Given the description of an element on the screen output the (x, y) to click on. 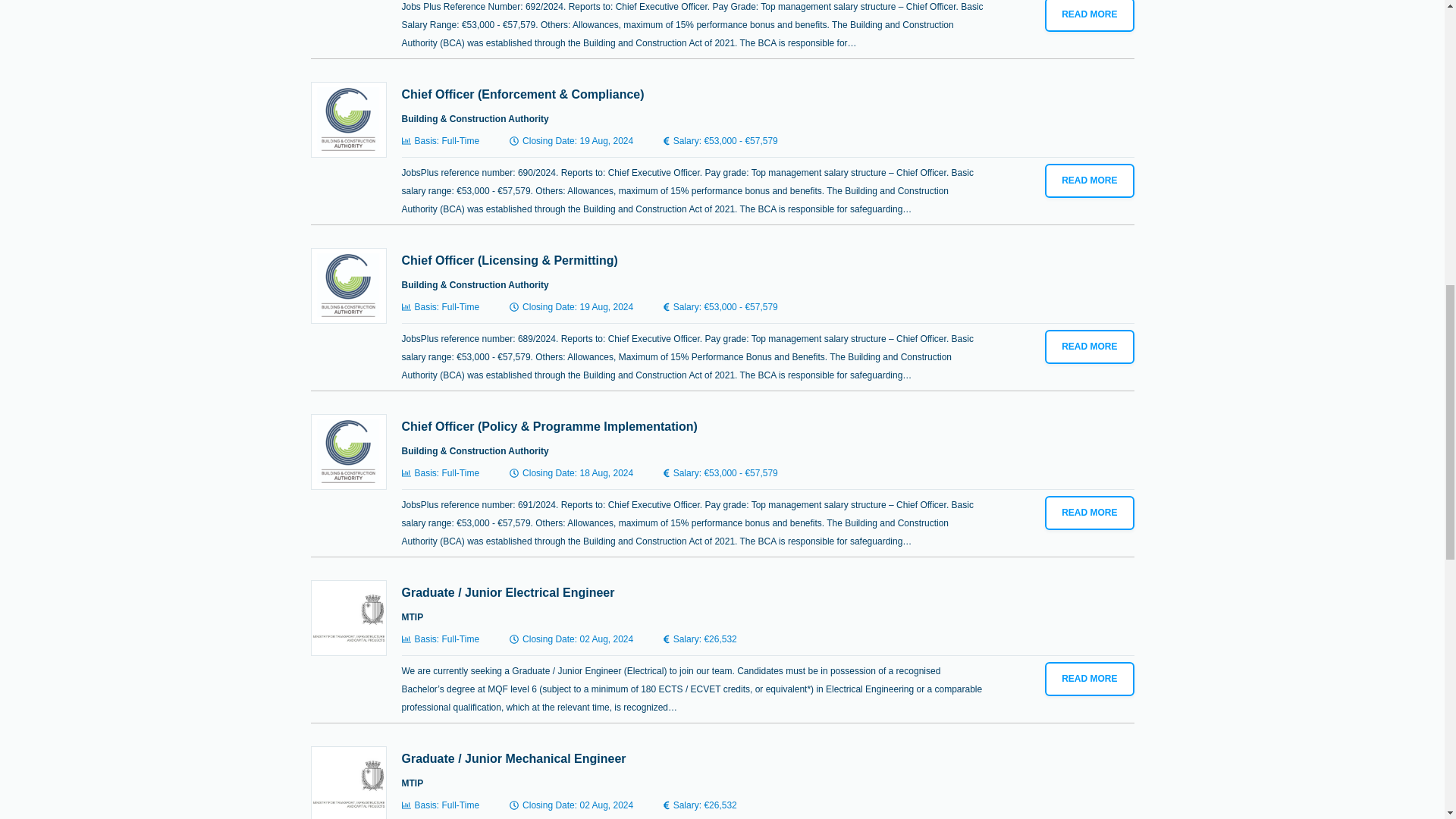
READ MORE (1089, 15)
READ MORE (1089, 180)
READ MORE (1089, 346)
